Given the description of an element on the screen output the (x, y) to click on. 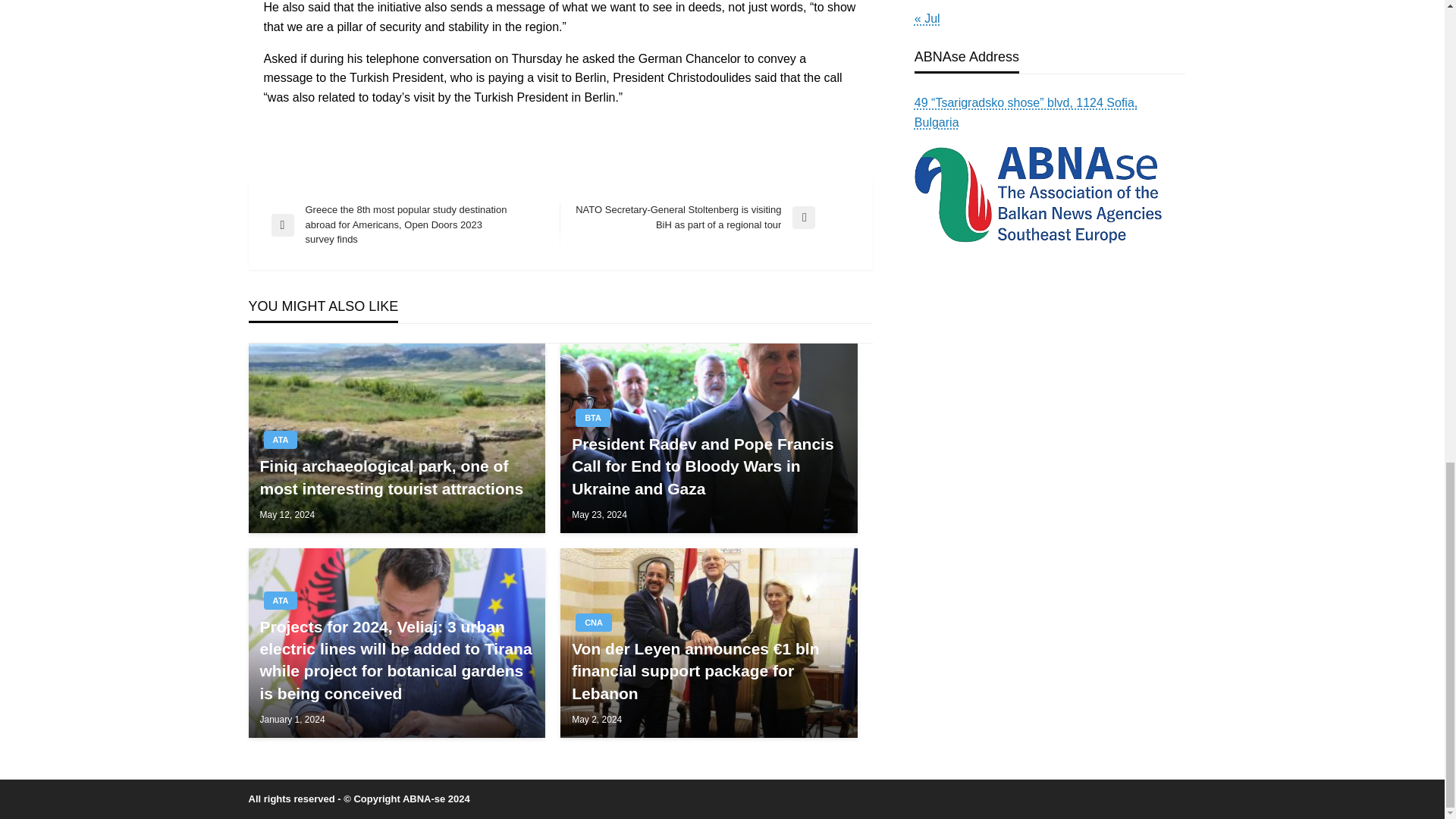
BTA (592, 417)
ATA (280, 439)
